Given the description of an element on the screen output the (x, y) to click on. 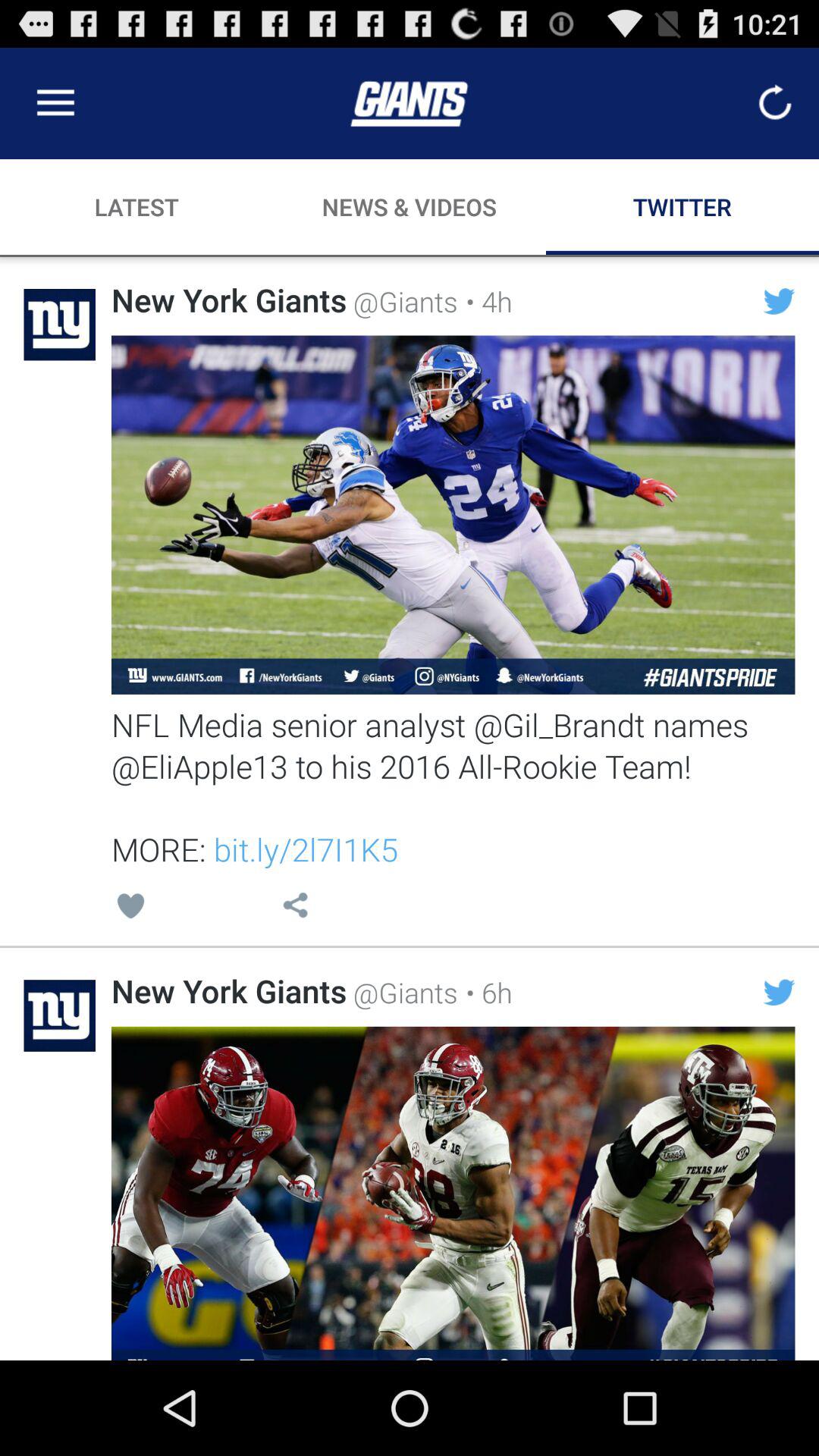
turn on item next to @giants item (484, 301)
